Given the description of an element on the screen output the (x, y) to click on. 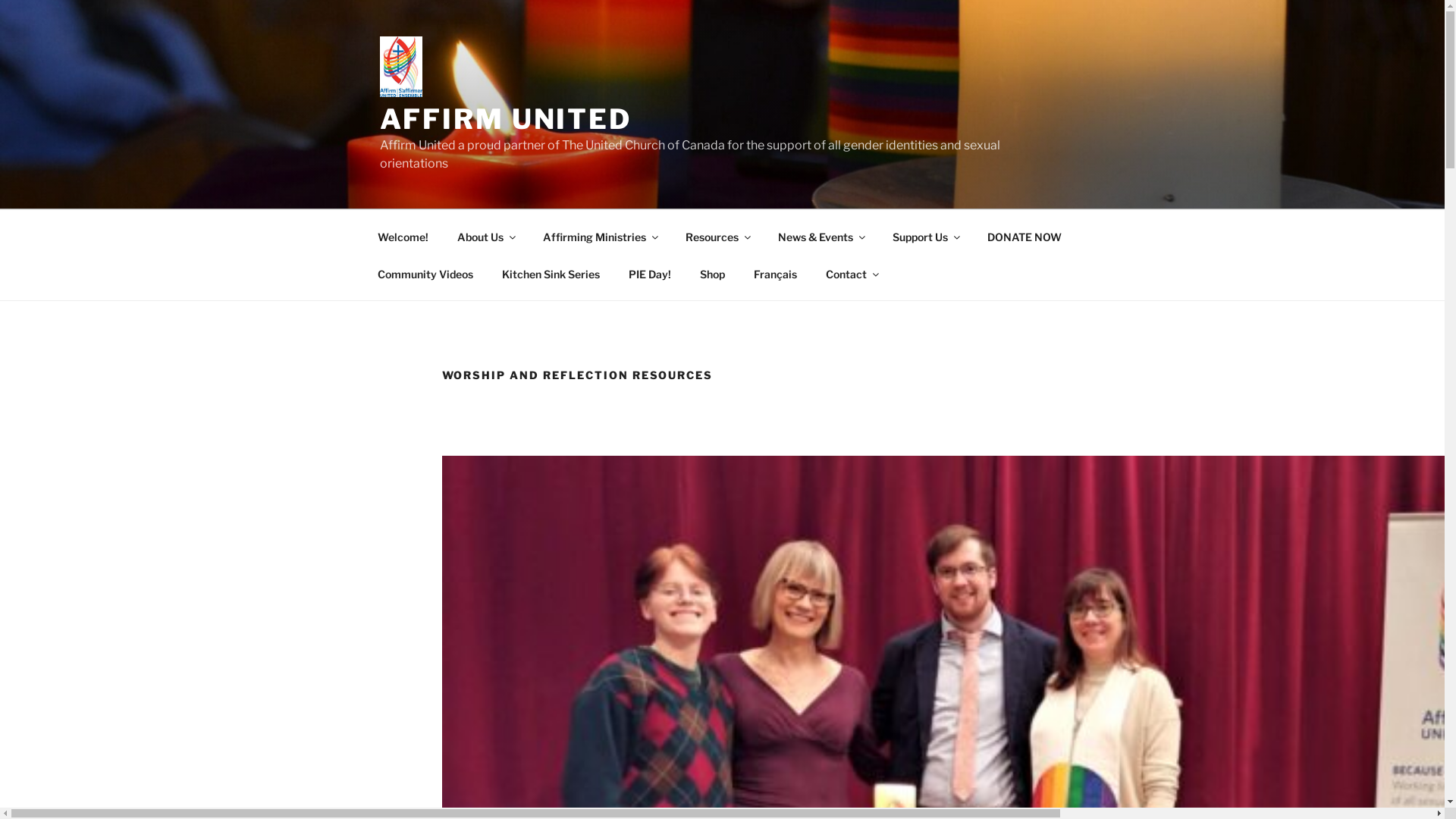
DONATE NOW Element type: text (1023, 236)
Contact Element type: text (851, 272)
About Us Element type: text (485, 236)
Welcome! Element type: text (402, 236)
PIE Day! Element type: text (649, 272)
AFFIRM UNITED Element type: text (504, 118)
Affirming Ministries Element type: text (599, 236)
Community Videos Element type: text (425, 272)
Support Us Element type: text (925, 236)
Kitchen Sink Series Element type: text (550, 272)
Resources Element type: text (716, 236)
News & Events Element type: text (820, 236)
Shop Element type: text (712, 272)
